Given the description of an element on the screen output the (x, y) to click on. 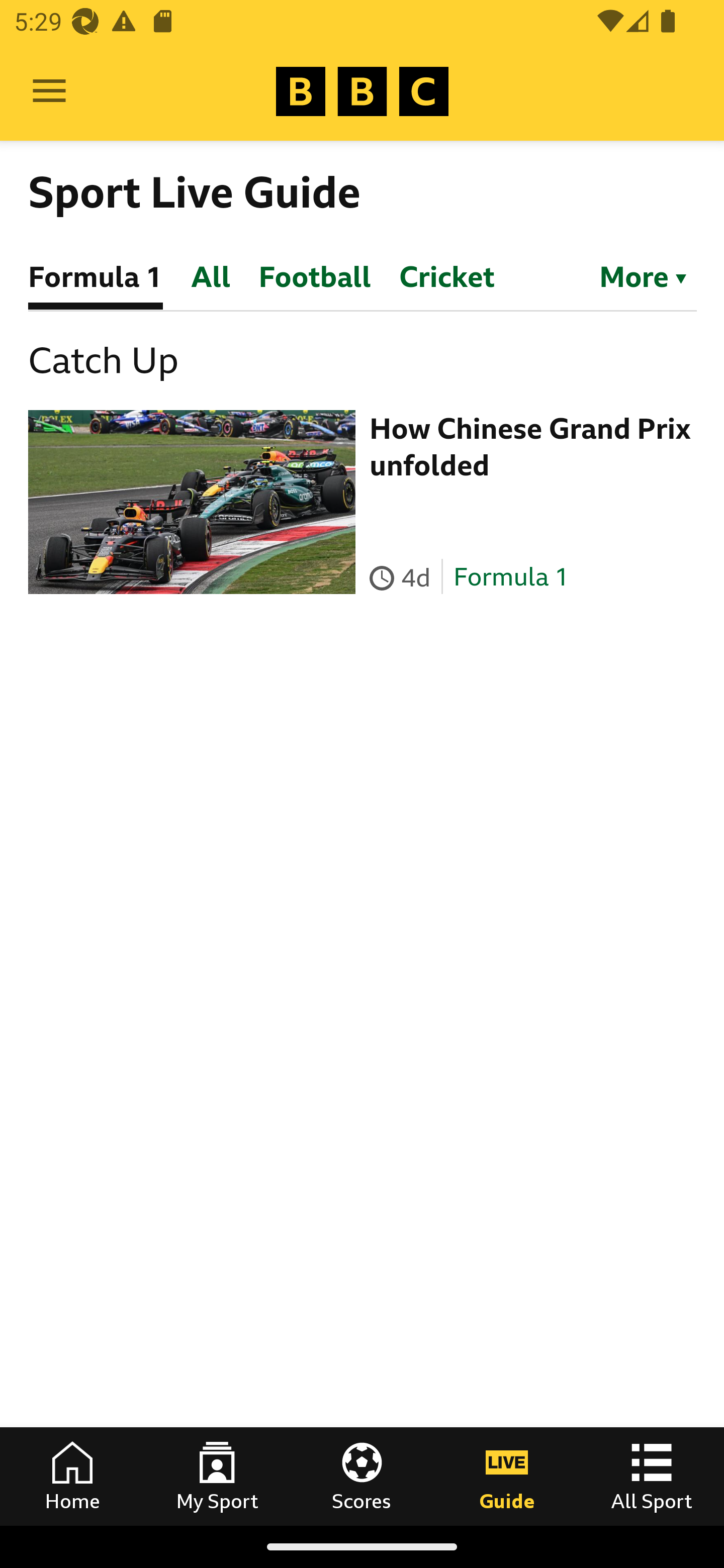
Open Menu (49, 91)
Filter by section. Currently selected: Formula 1 (634, 275)
How Chinese Grand Prix unfolded (530, 446)
Formula 1 (510, 576)
Home (72, 1475)
My Sport (216, 1475)
Scores (361, 1475)
All Sport (651, 1475)
